Given the description of an element on the screen output the (x, y) to click on. 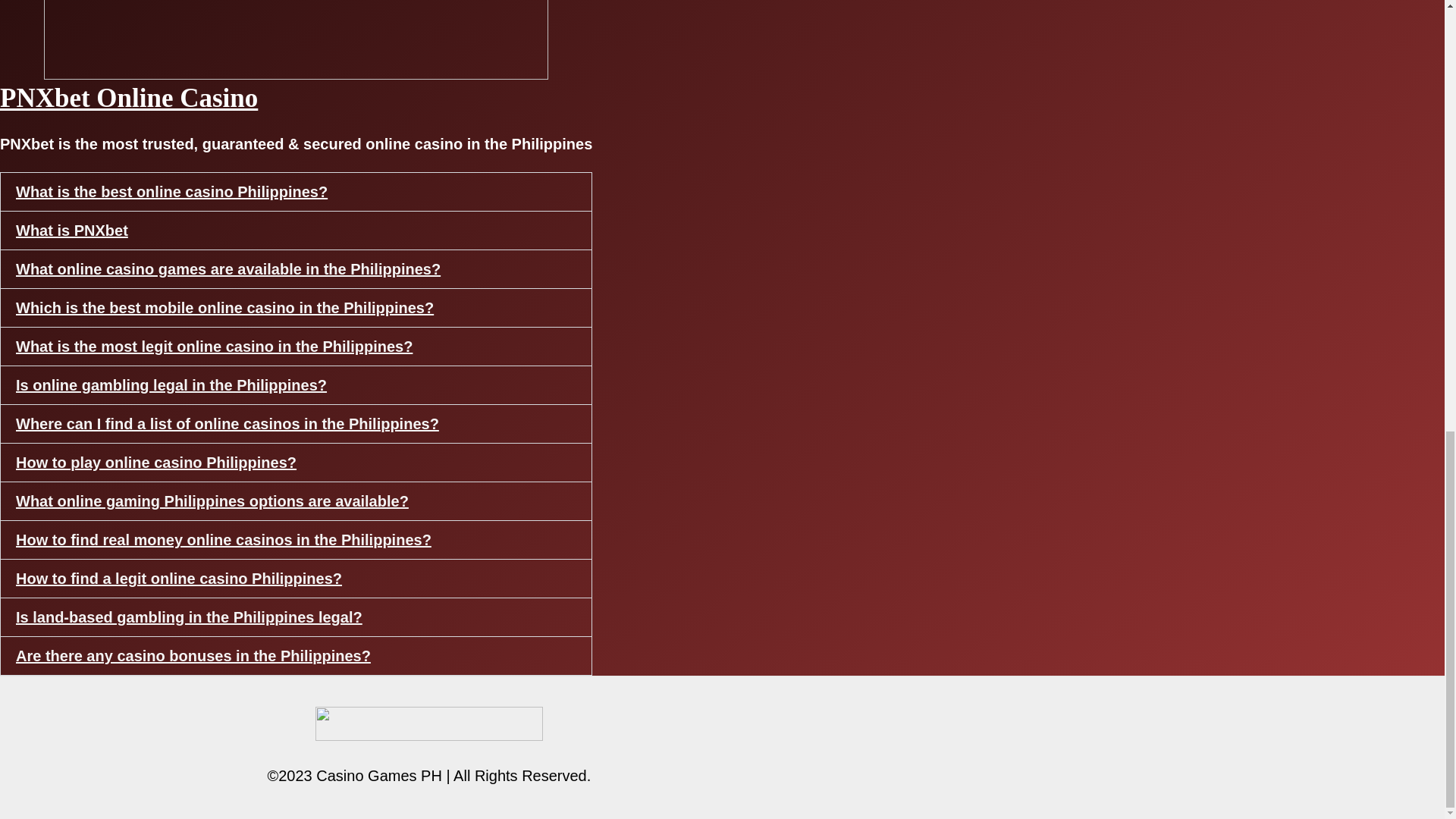
PNXbet Online Casino (128, 98)
Is online gambling legal in the Philippines? (171, 384)
What online casino games are available in the Philippines? (228, 269)
How to find real money online casinos in the Philippines? (223, 539)
What is the best online casino Philippines? (171, 191)
Are there any casino bonuses in the Philippines? (193, 655)
Is land-based gambling in the Philippines legal? (189, 617)
How to play online casino Philippines? (156, 462)
Which is the best mobile online casino in the Philippines? (224, 307)
What is the most legit online casino in the Philippines? (214, 346)
What online gaming Philippines options are available? (212, 501)
How to find a legit online casino Philippines? (179, 578)
What is PNXbet (72, 230)
